Given the description of an element on the screen output the (x, y) to click on. 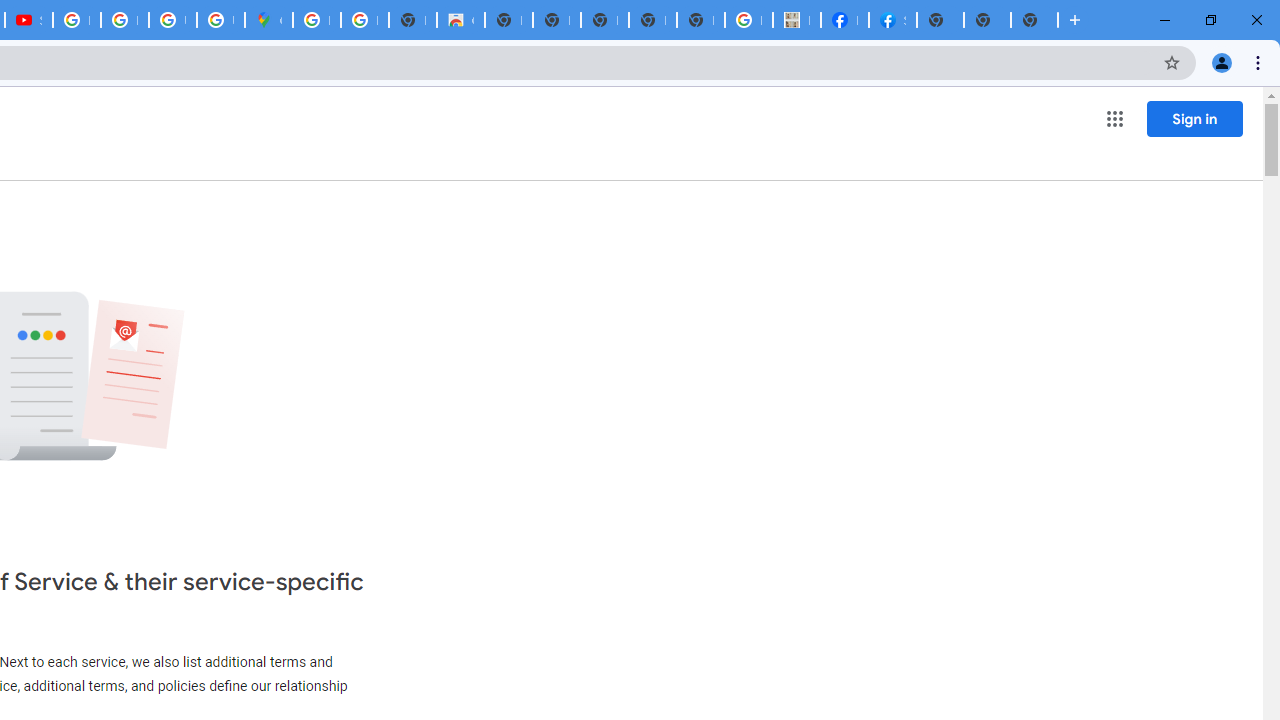
Miley Cyrus | Facebook (844, 20)
MILEY CYRUS. (796, 20)
Sign Up for Facebook (892, 20)
How Chrome protects your passwords - Google Chrome Help (76, 20)
Google Maps (268, 20)
New Tab (939, 20)
